Given the description of an element on the screen output the (x, y) to click on. 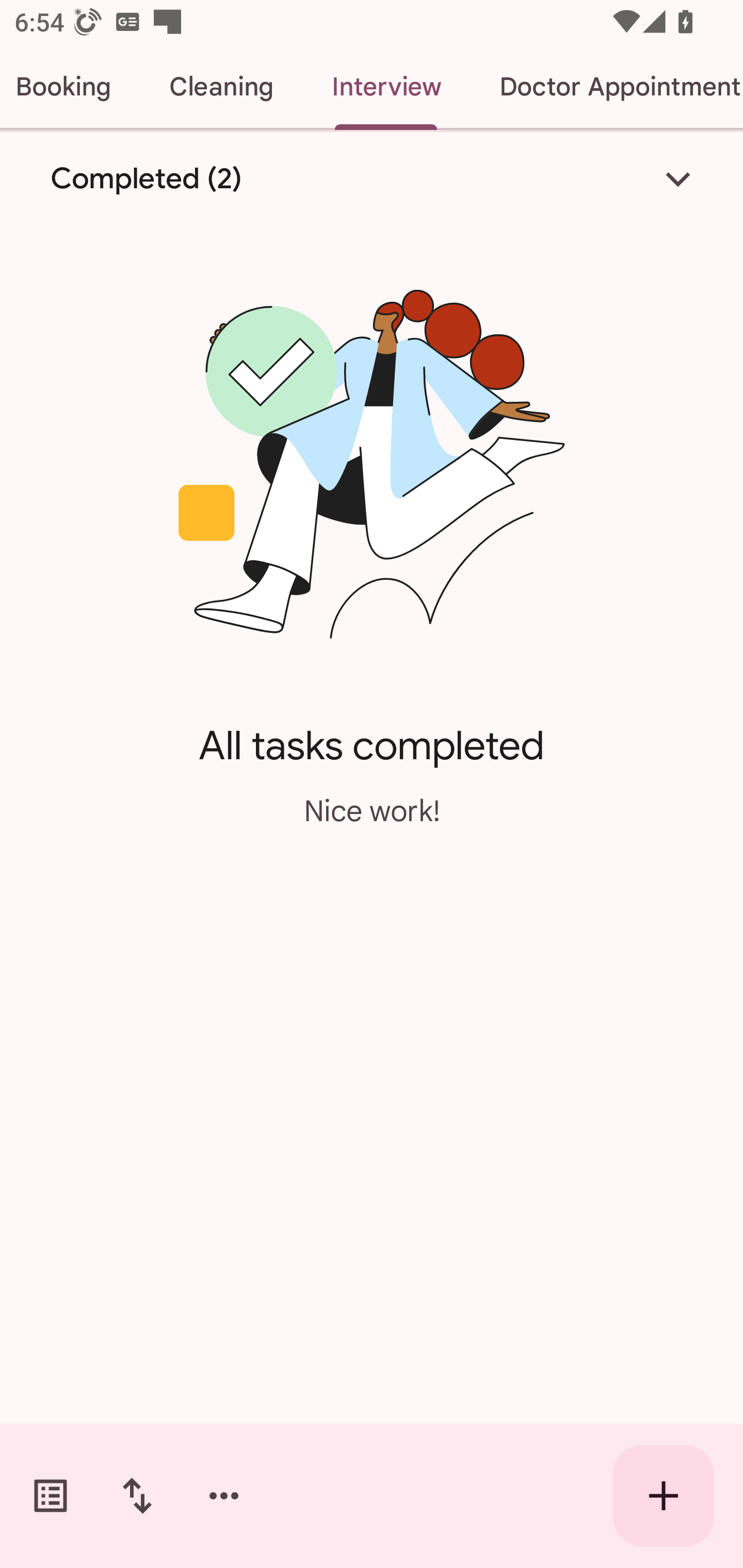
Hotel Booking (69, 86)
Cleaning (220, 86)
Doctor Appointment (606, 86)
Completed (2) (371, 178)
Switch task lists (50, 1495)
Create new task (663, 1495)
Change sort order (136, 1495)
More options (223, 1495)
